Given the description of an element on the screen output the (x, y) to click on. 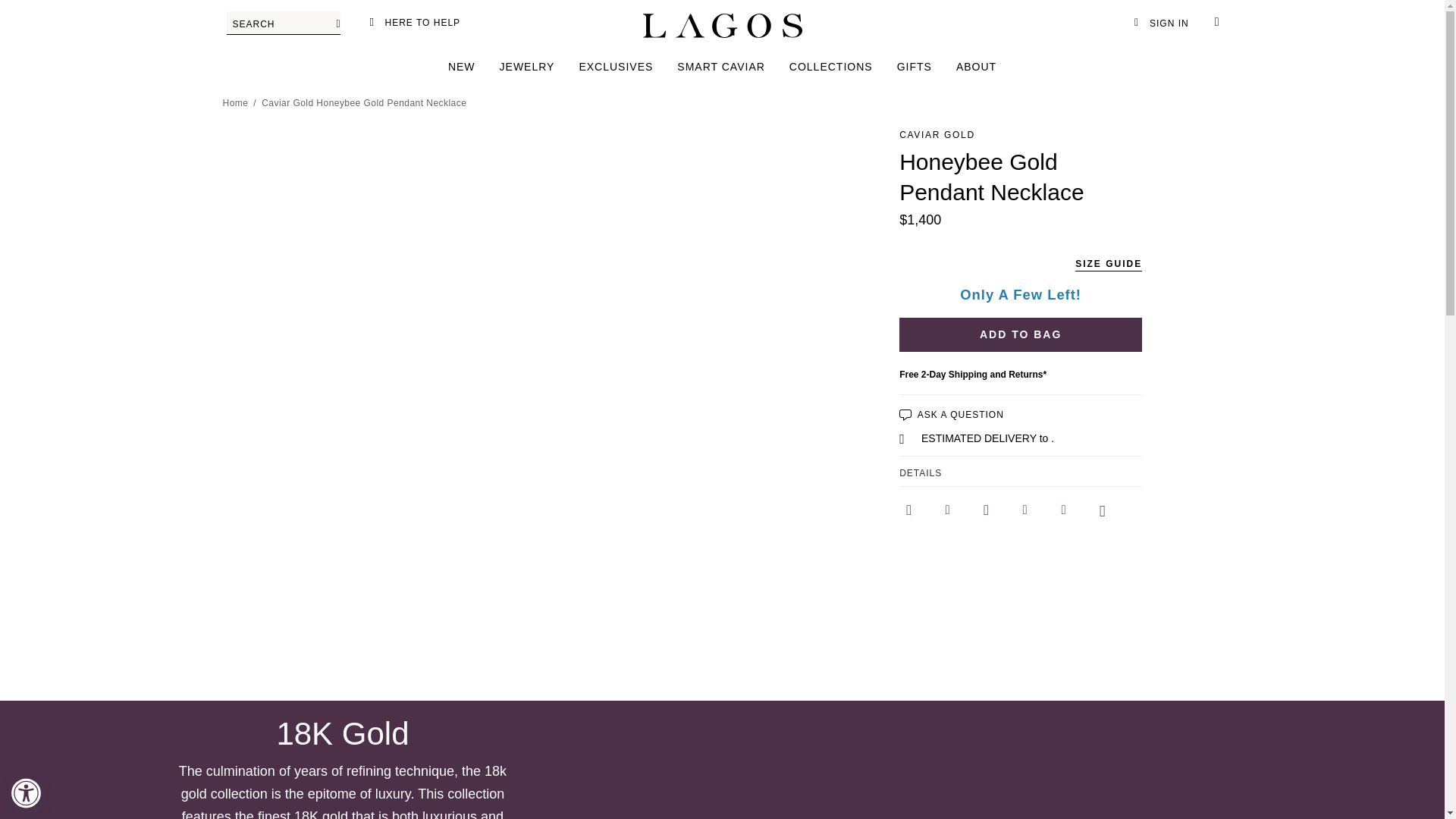
JEWELRY (526, 66)
SEARCH (282, 23)
SIGN IN (1160, 23)
Pin on Pinterest (946, 510)
Share on Facebook (908, 510)
Copy page URL (1102, 510)
HERE TO HELP (413, 23)
Tweet on Twitter (985, 510)
Share by Email (1063, 510)
Back to the home page (235, 102)
